Given the description of an element on the screen output the (x, y) to click on. 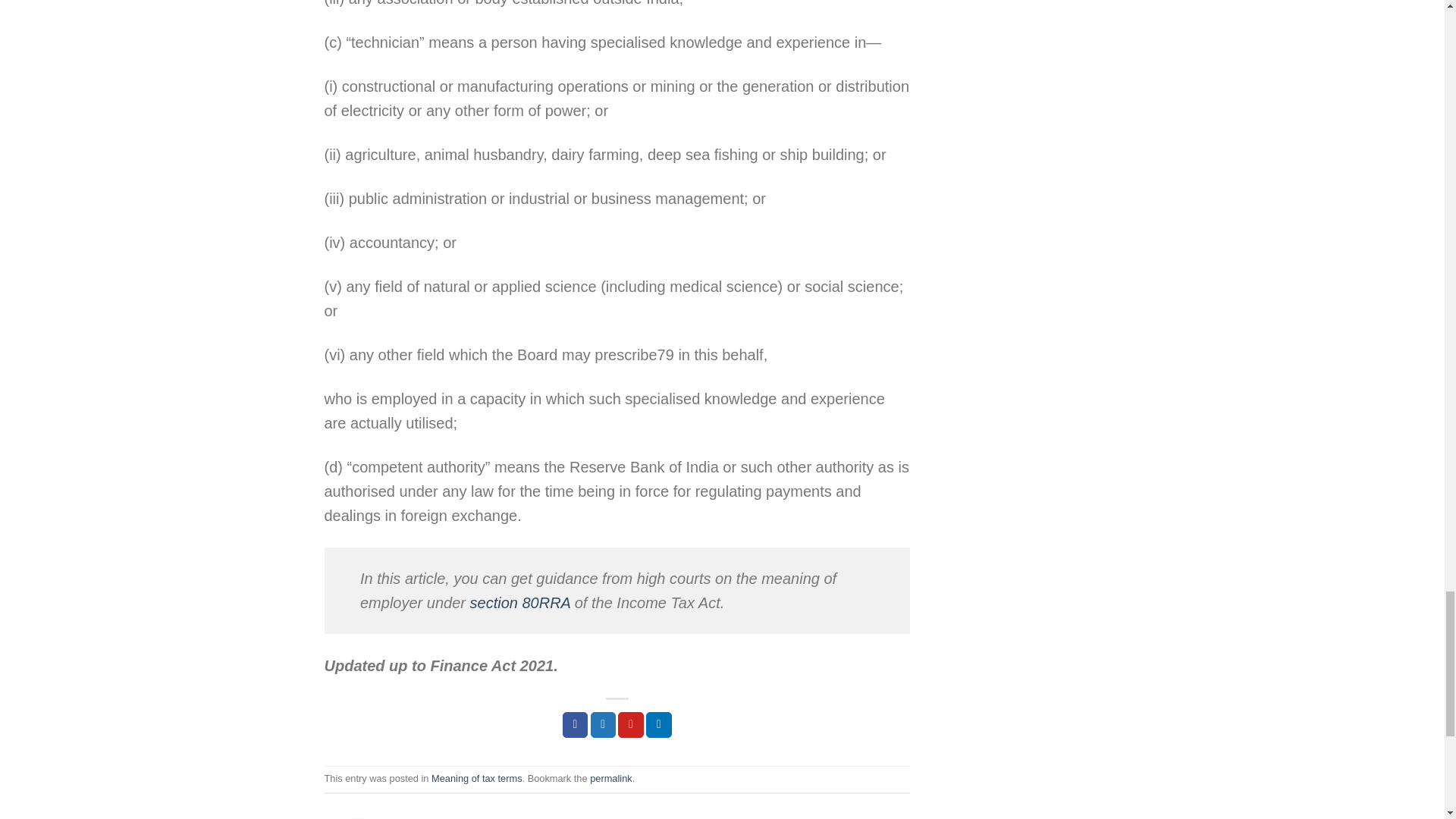
Share on LinkedIn (658, 724)
permalink (610, 778)
Meaning of tax terms (476, 778)
Pin on Pinterest (630, 724)
section 80RRA (520, 602)
Share on Facebook (575, 724)
Share on Twitter (603, 724)
